Given the description of an element on the screen output the (x, y) to click on. 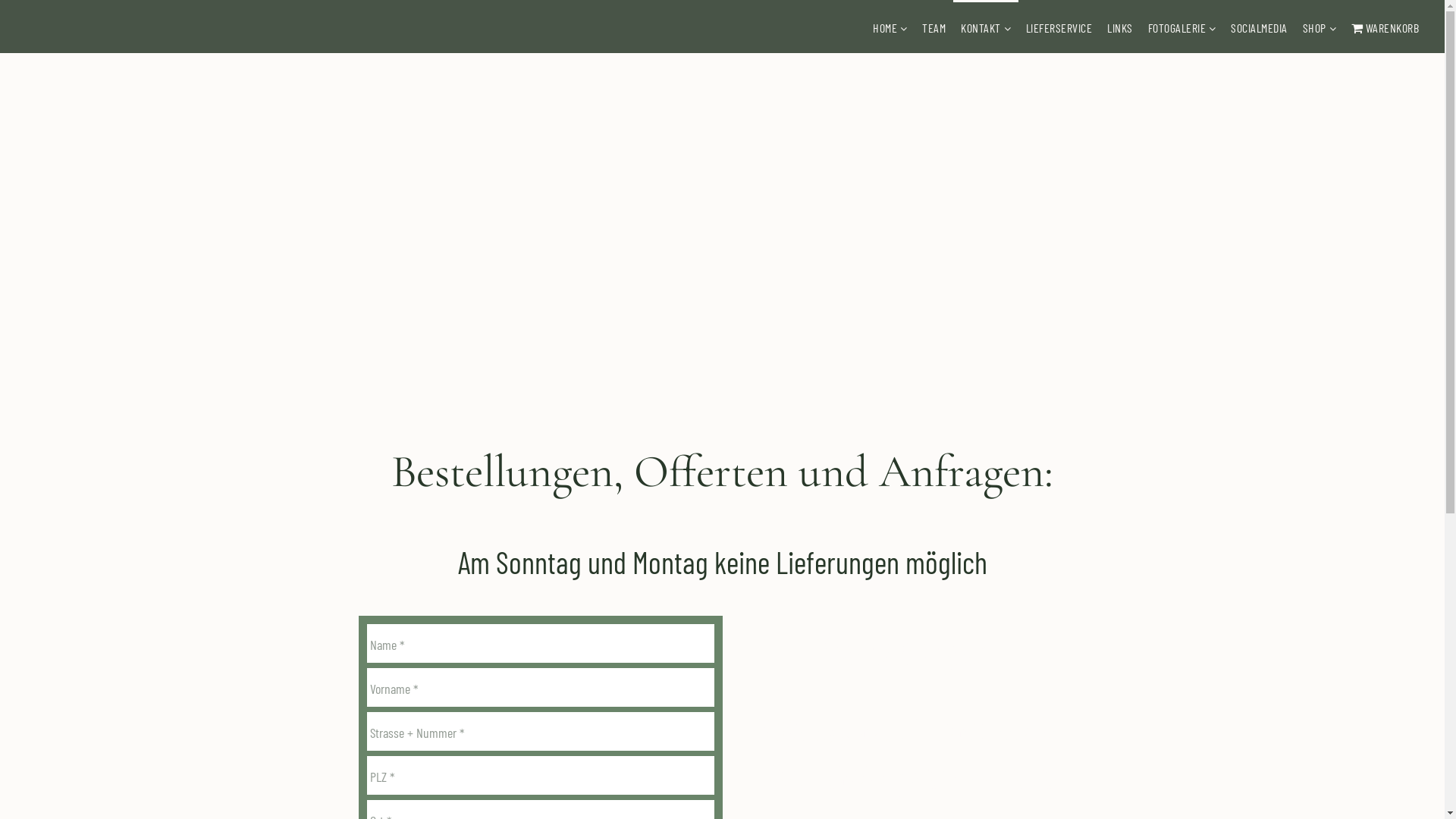
WARENKORB Element type: text (1385, 27)
KONTAKT Element type: text (980, 27)
FOTOGALERIE Element type: text (1177, 27)
SOCIALMEDIA Element type: text (1259, 27)
TEAM Element type: text (933, 27)
HOME Element type: text (884, 27)
LIEFERSERVICE Element type: text (1059, 27)
LINKS Element type: text (1119, 27)
SHOP Element type: text (1314, 27)
